Given the description of an element on the screen output the (x, y) to click on. 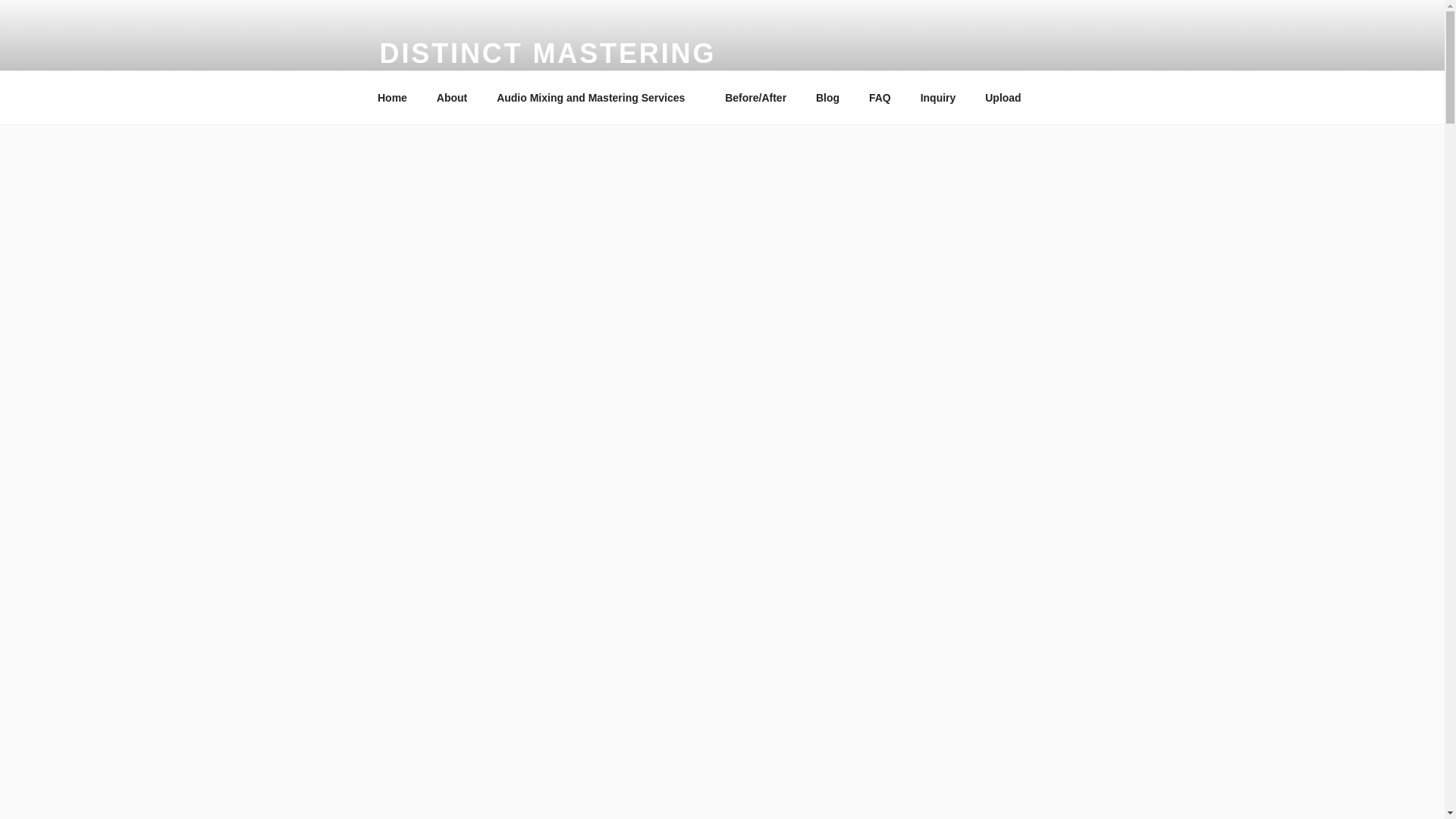
FAQ (880, 97)
Audio Mixing and Mastering Services (596, 97)
Inquiry (938, 97)
About (451, 97)
Home (392, 97)
Upload (1002, 97)
DISTINCT MASTERING (547, 52)
Blog (826, 97)
